Given the description of an element on the screen output the (x, y) to click on. 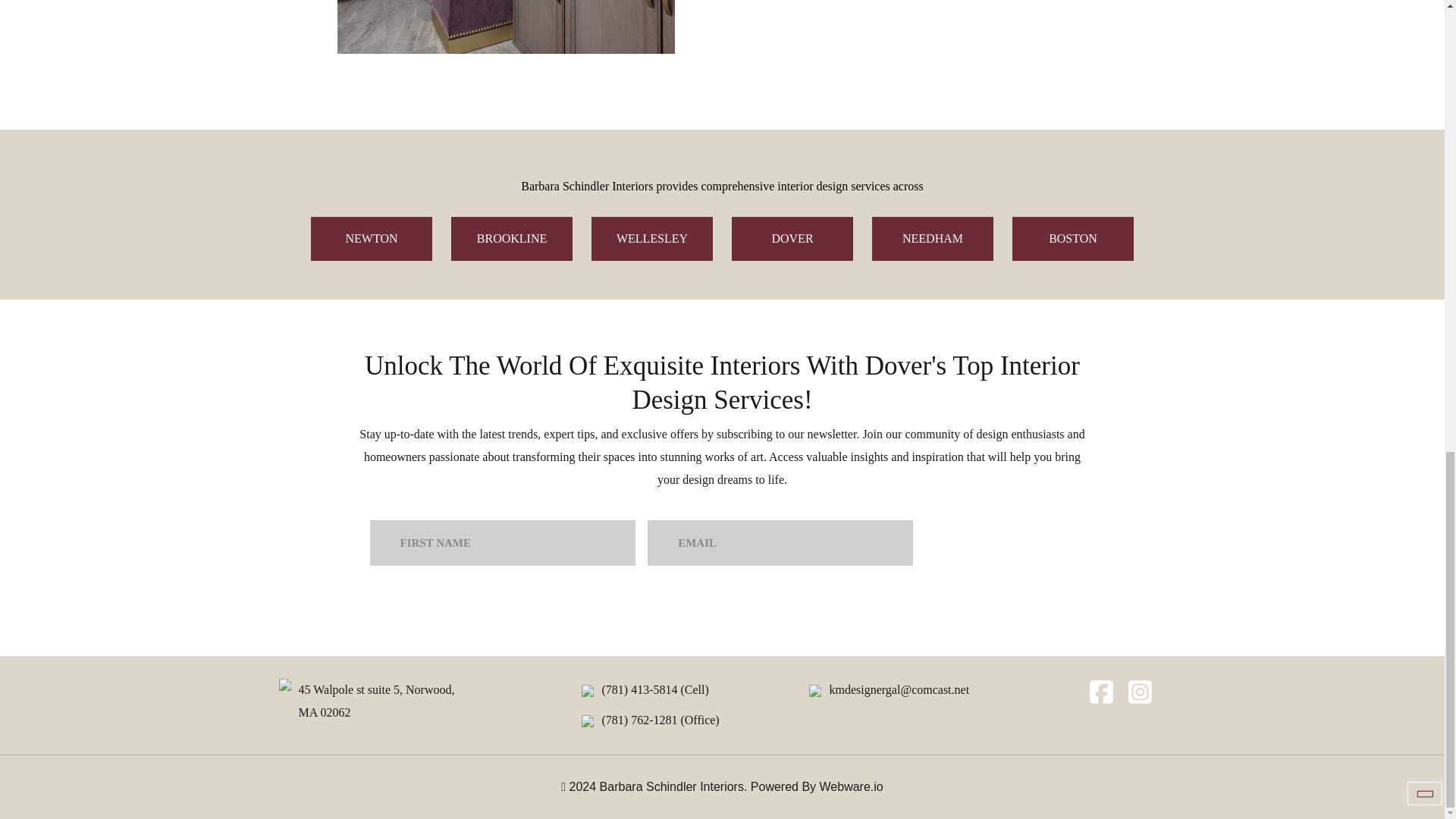
BOSTON (1072, 239)
Subscribe now! (1000, 542)
Subscribe now! (1000, 542)
BROOKLINE (376, 700)
NEEDHAM (511, 239)
DOVER (932, 239)
NEWTON (792, 239)
WELLESLEY (371, 239)
